Given the description of an element on the screen output the (x, y) to click on. 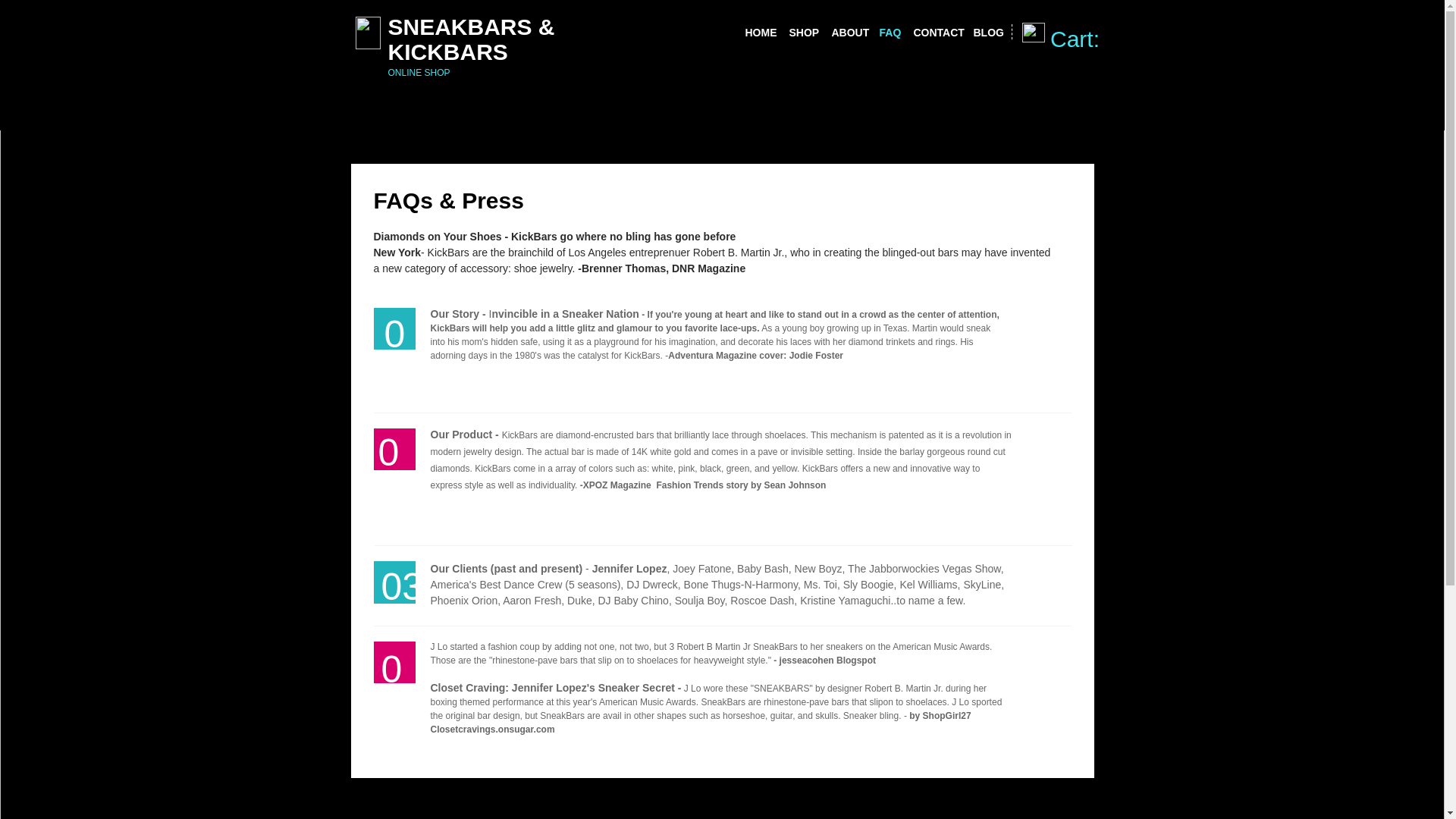
HOME (758, 32)
SHOP (802, 32)
CONTACT (935, 32)
BLOG (986, 32)
Cart: (1090, 38)
Cart: (1090, 38)
ABOUT (847, 32)
FAQ (888, 32)
